Given the description of an element on the screen output the (x, y) to click on. 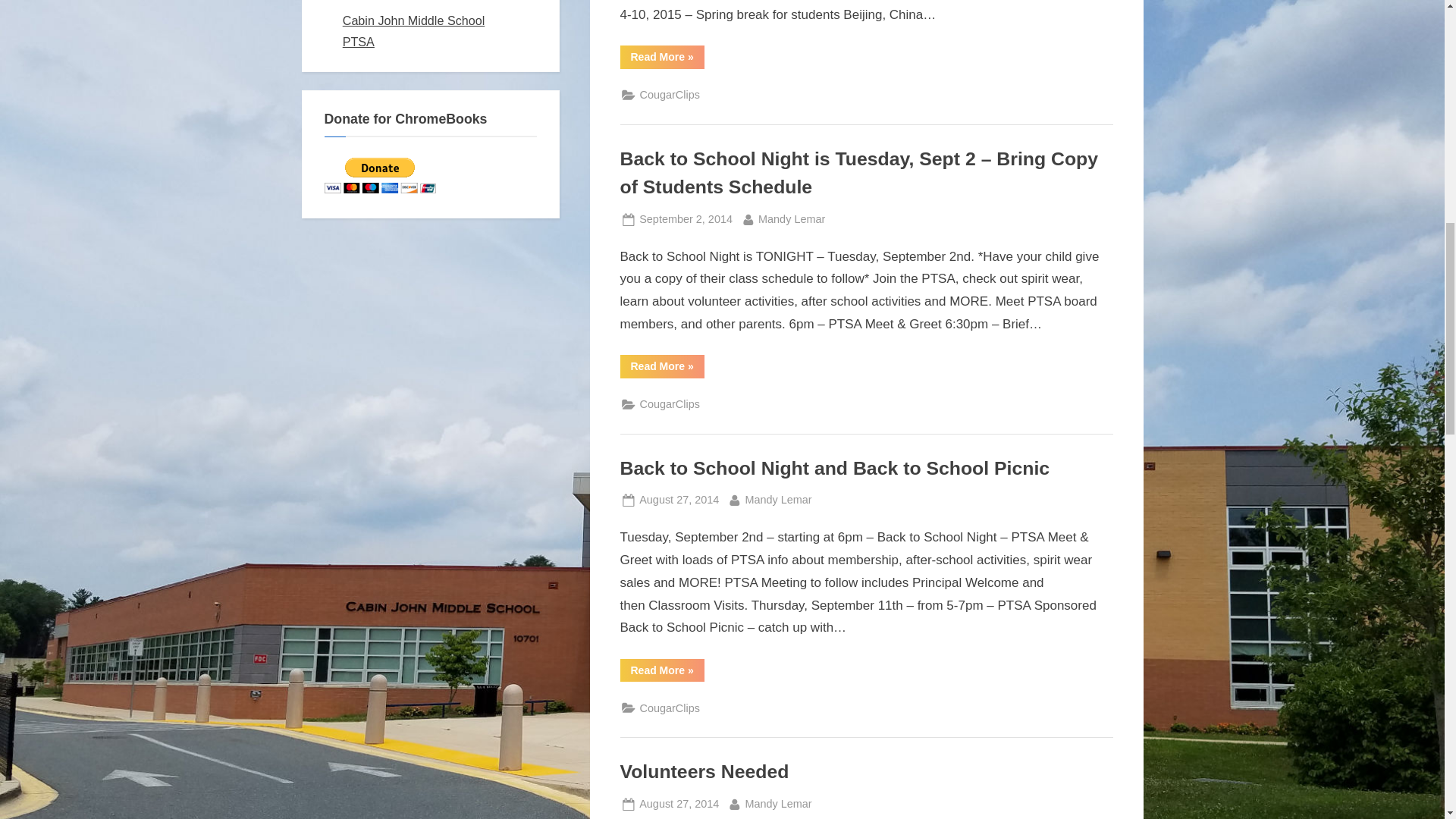
CougarClips (670, 404)
Back to School Night and Back to School Picnic (834, 467)
CougarClips (777, 499)
CougarClips (685, 219)
Volunteers Needed (679, 804)
